Given the description of an element on the screen output the (x, y) to click on. 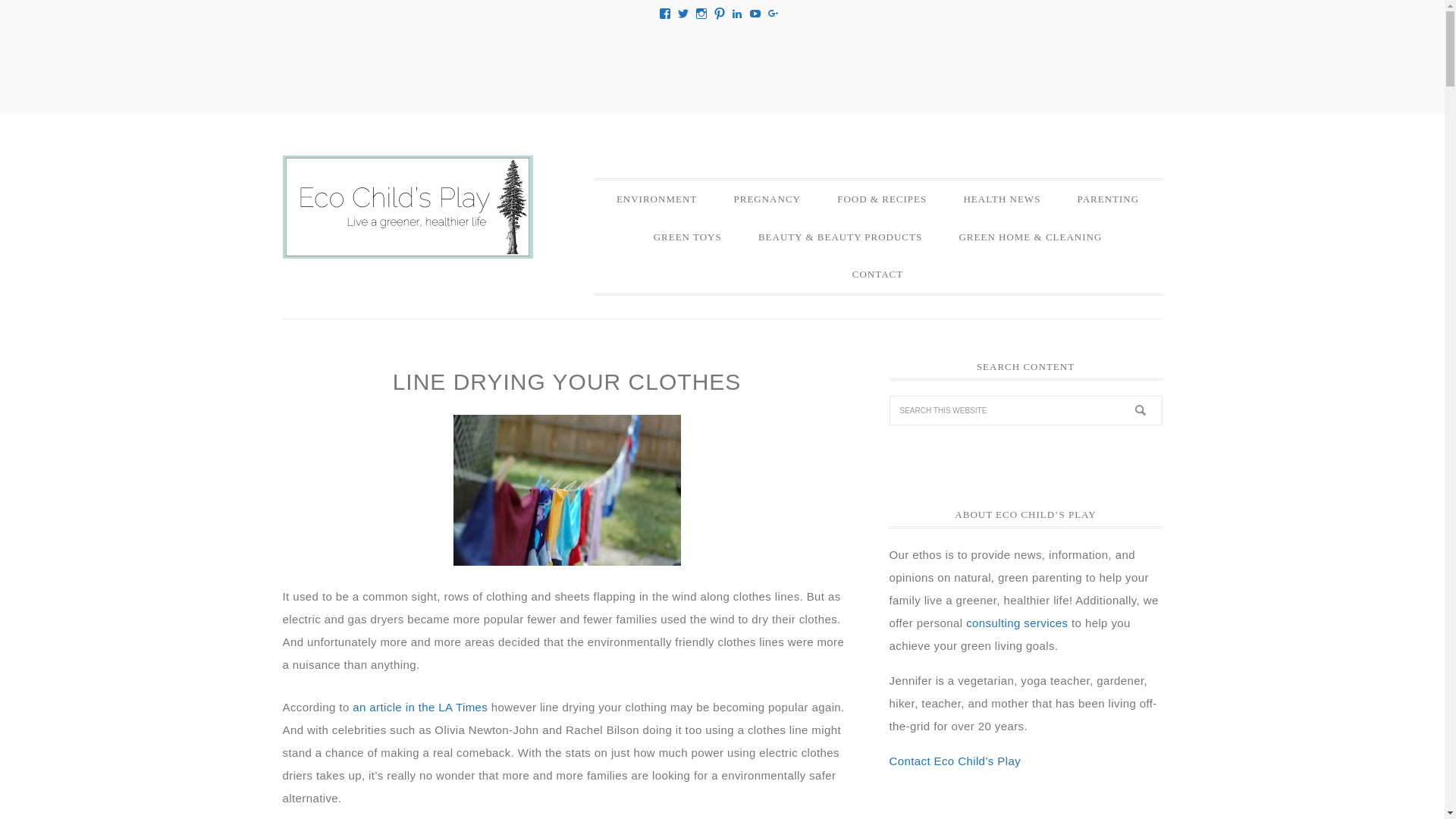
ECO CHILD'S PLAY (407, 206)
PARENTING (1108, 199)
an article in the LA Times (419, 707)
GREEN TOYS (687, 237)
ENVIRONMENT (656, 199)
HEALTH NEWS (1001, 199)
Advertisement (721, 64)
CONTACT (877, 274)
PREGNANCY (766, 199)
